Given the description of an element on the screen output the (x, y) to click on. 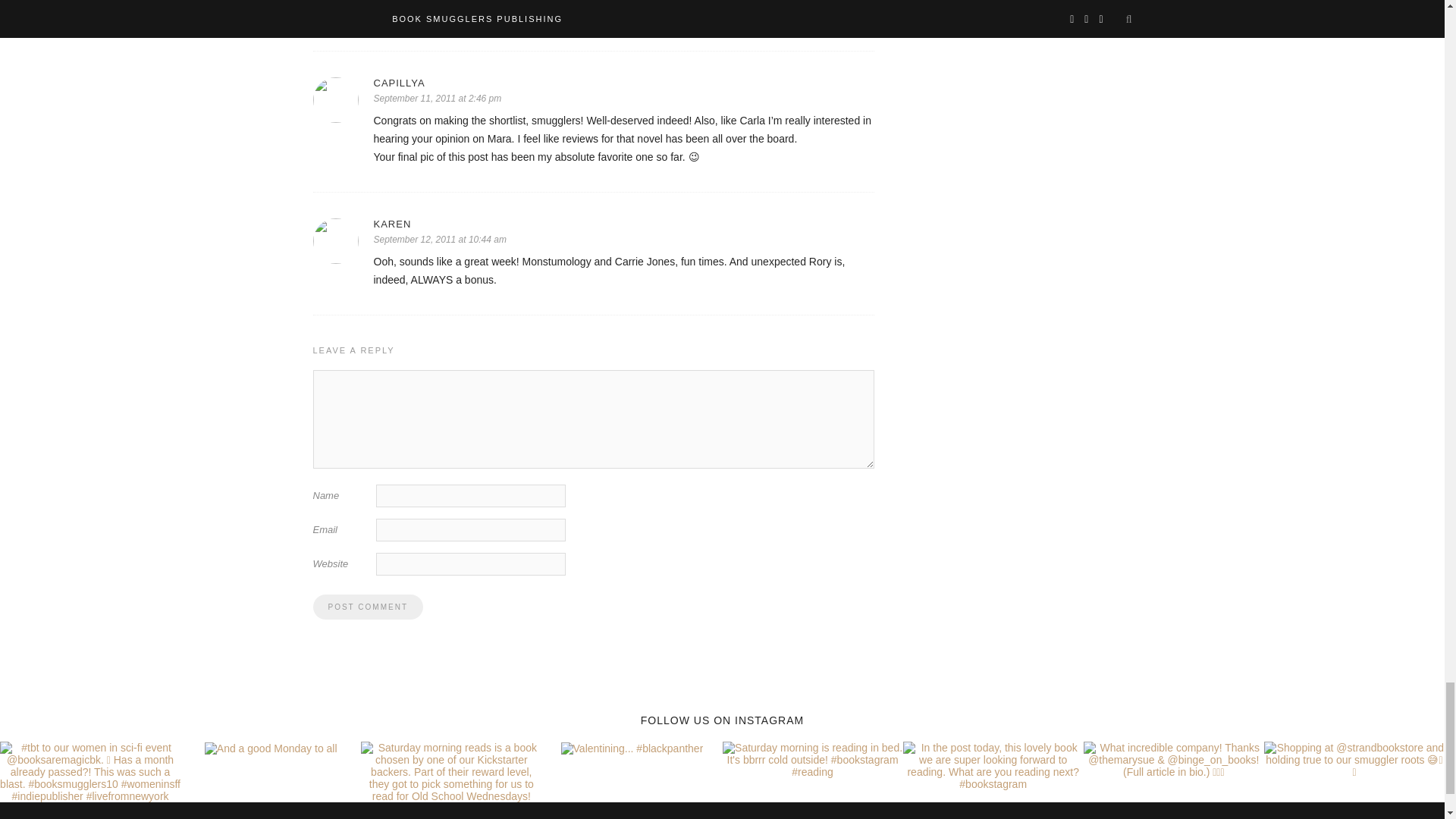
Post Comment (367, 606)
And a good Monday to all (271, 748)
